Given the description of an element on the screen output the (x, y) to click on. 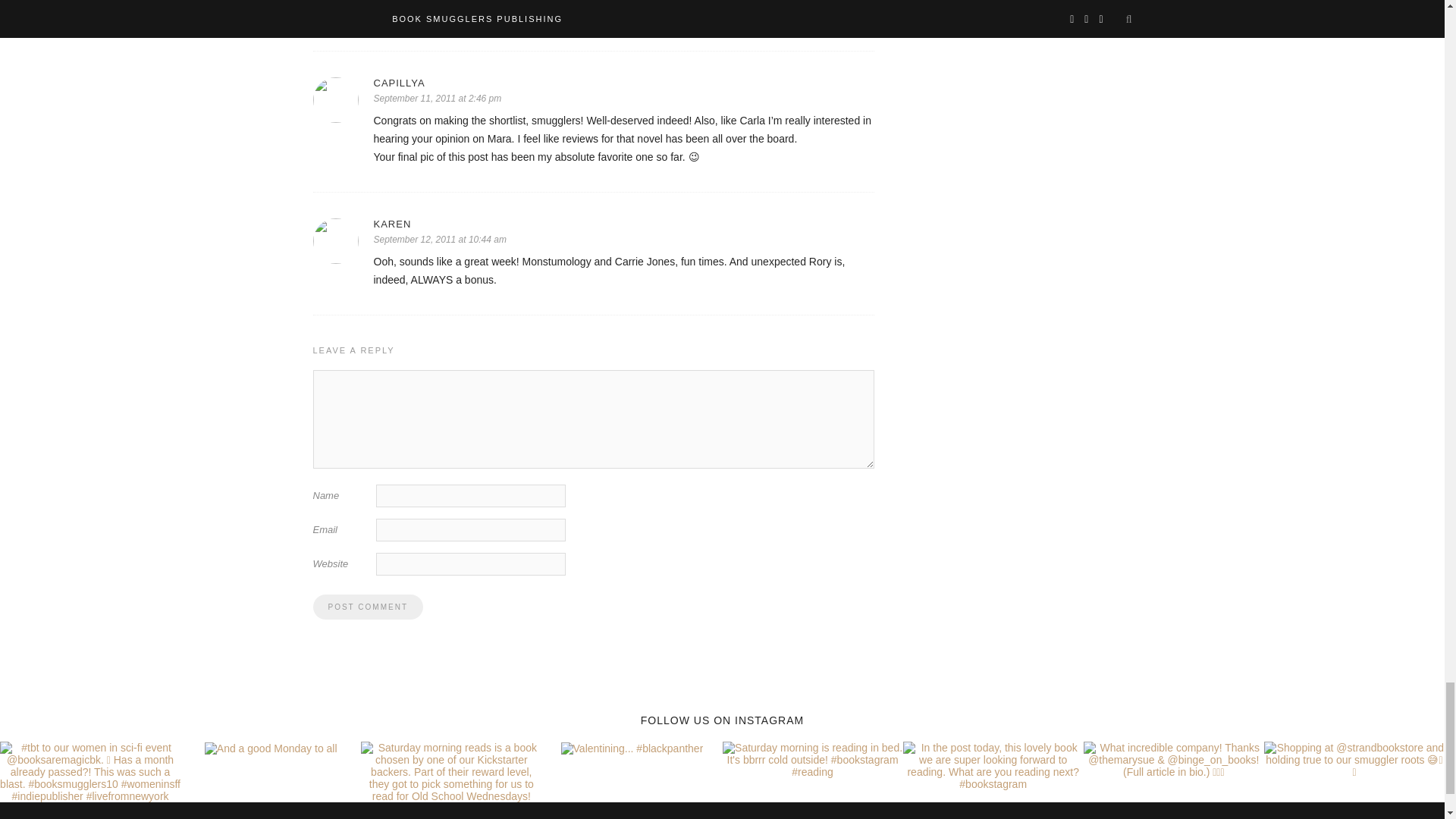
Post Comment (367, 606)
And a good Monday to all (271, 748)
